Given the description of an element on the screen output the (x, y) to click on. 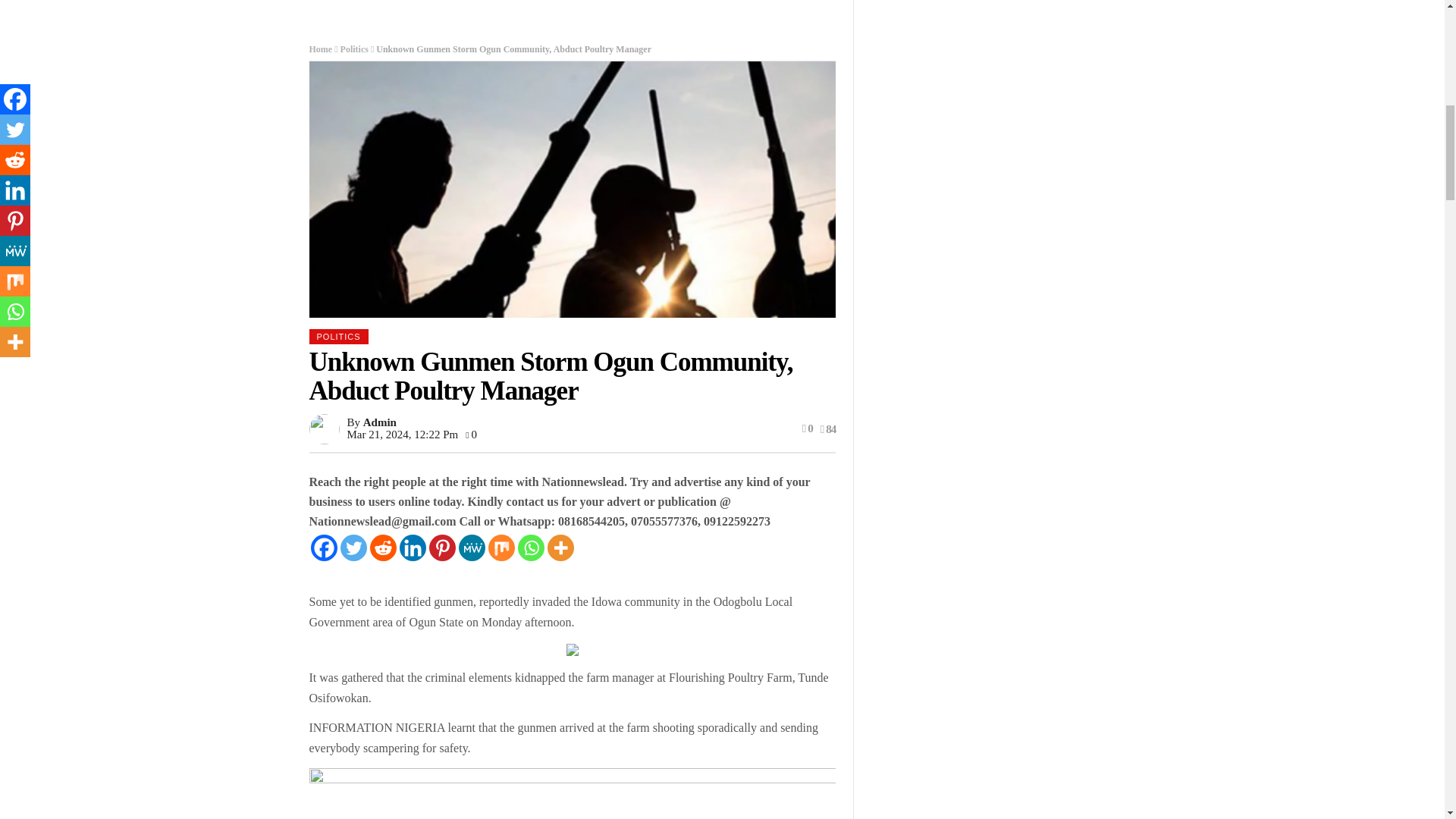
Posts by admin (379, 422)
Home (320, 49)
Pinterest (442, 547)
Reddit (382, 547)
POLITICS (338, 336)
Twitter (352, 547)
Linkedin (411, 547)
Politics (354, 49)
Admin (379, 422)
Mix (501, 547)
